Given the description of an element on the screen output the (x, y) to click on. 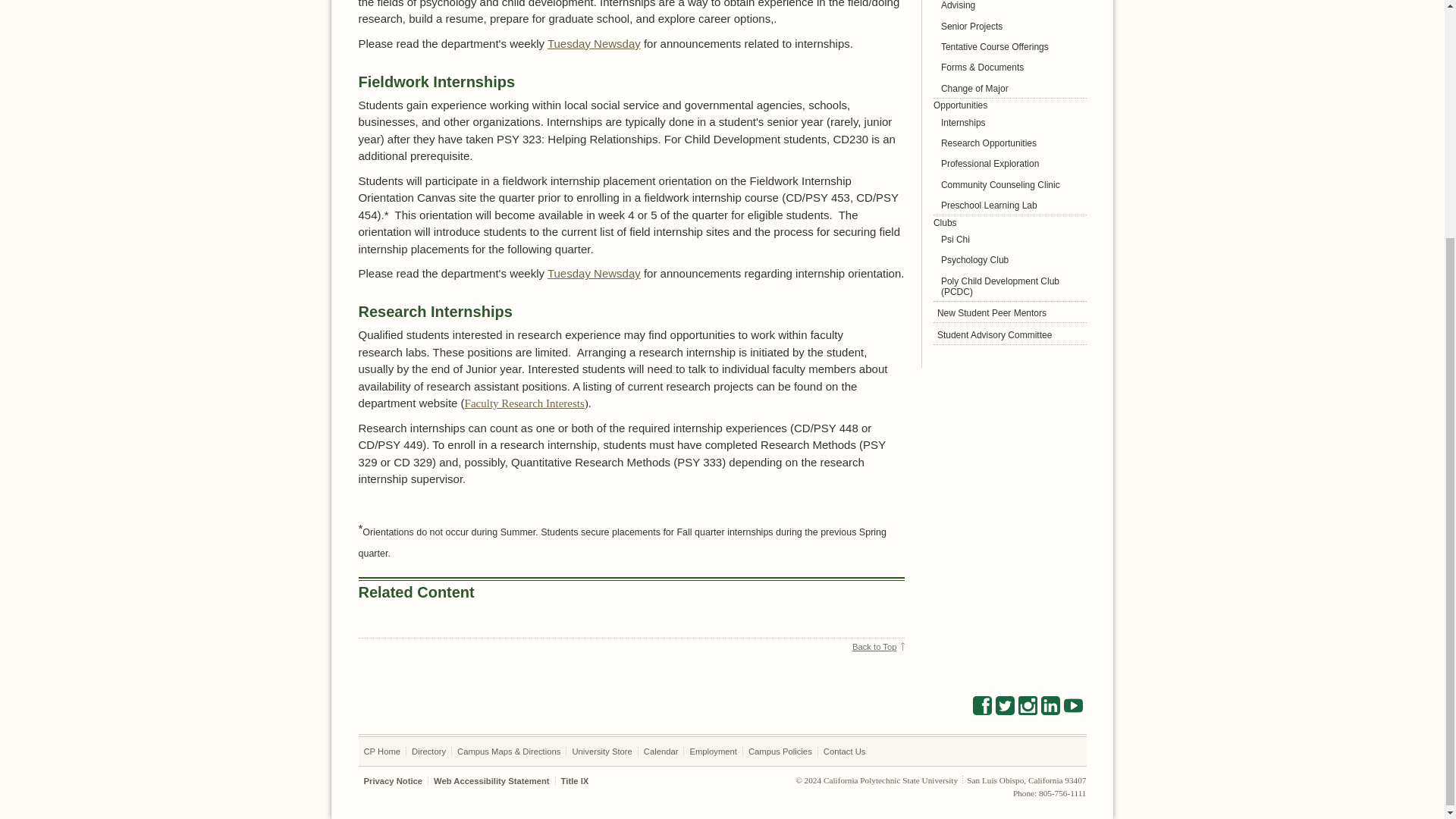
Preschool Learning Lab (1009, 204)
Tentative Course Offerings (1009, 46)
Change of Major (1009, 87)
Senior Projects (1009, 26)
Community Counseling Clinic (1009, 184)
Research Opportunities (1009, 142)
New Student Peer Mentors (1009, 312)
Internships (1009, 122)
Professional Exploration (1009, 162)
Psi Chi (1009, 239)
